Given the description of an element on the screen output the (x, y) to click on. 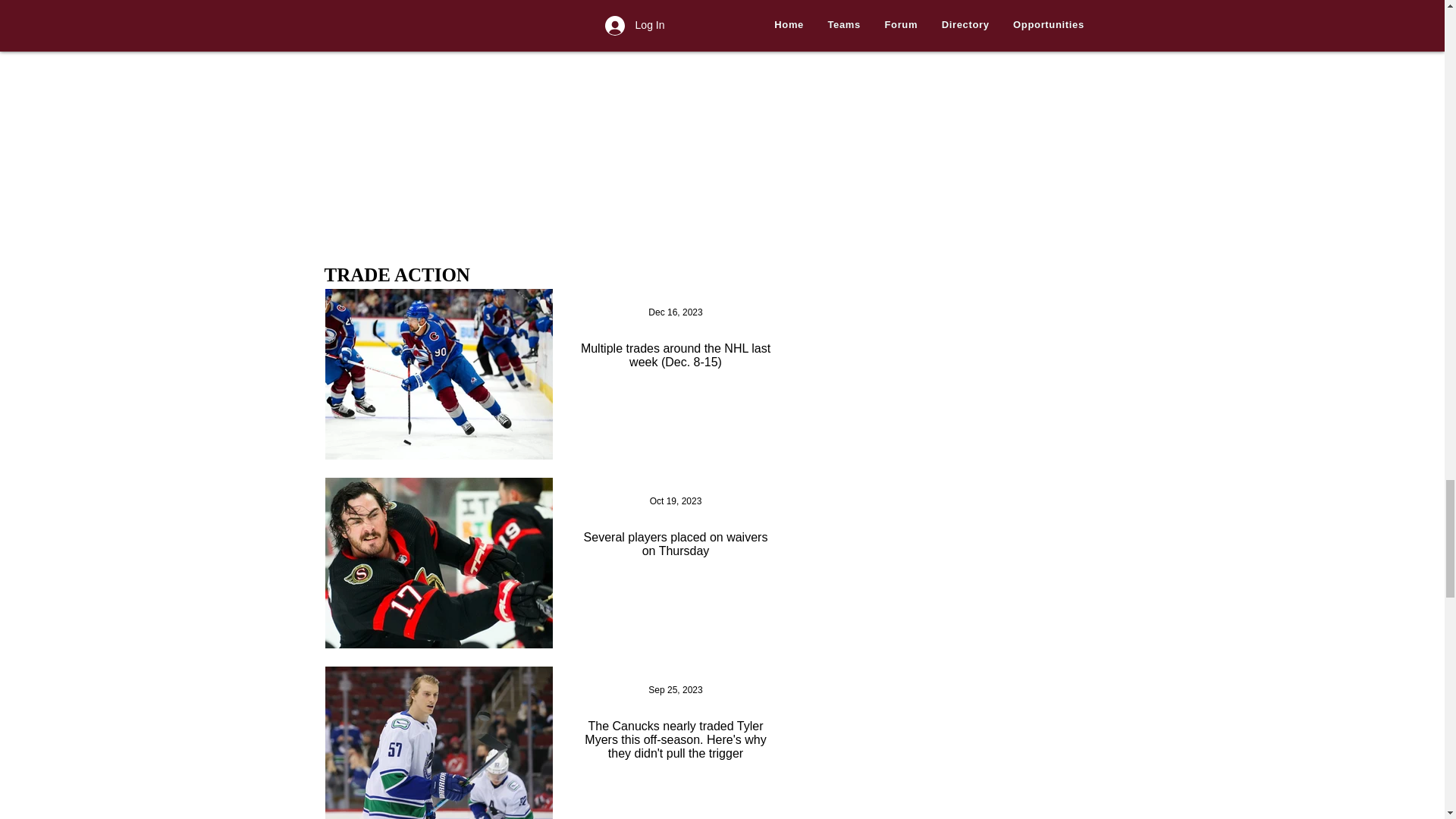
Sep 25, 2023 (674, 689)
Dec 16, 2023 (674, 312)
Oct 19, 2023 (675, 501)
